Given the description of an element on the screen output the (x, y) to click on. 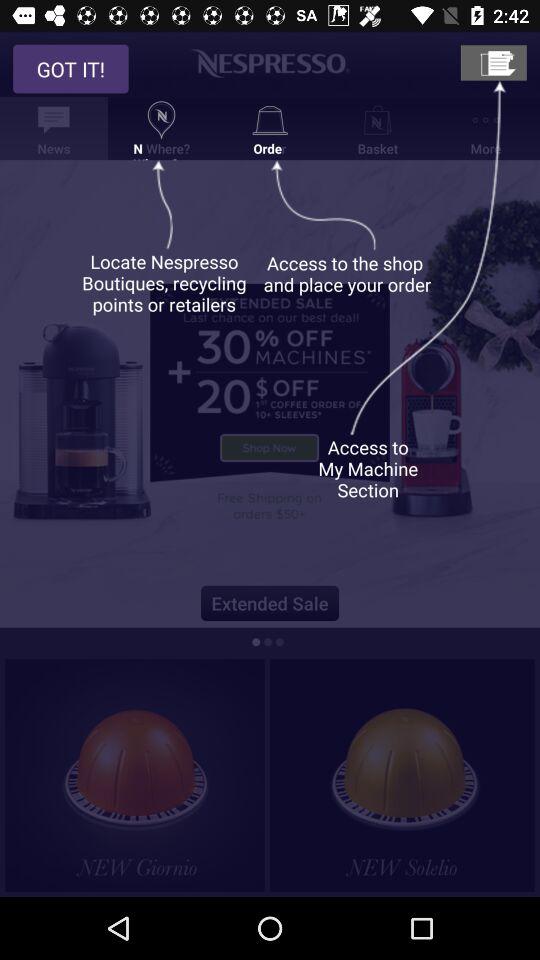
switch autoplay option (402, 775)
